Given the description of an element on the screen output the (x, y) to click on. 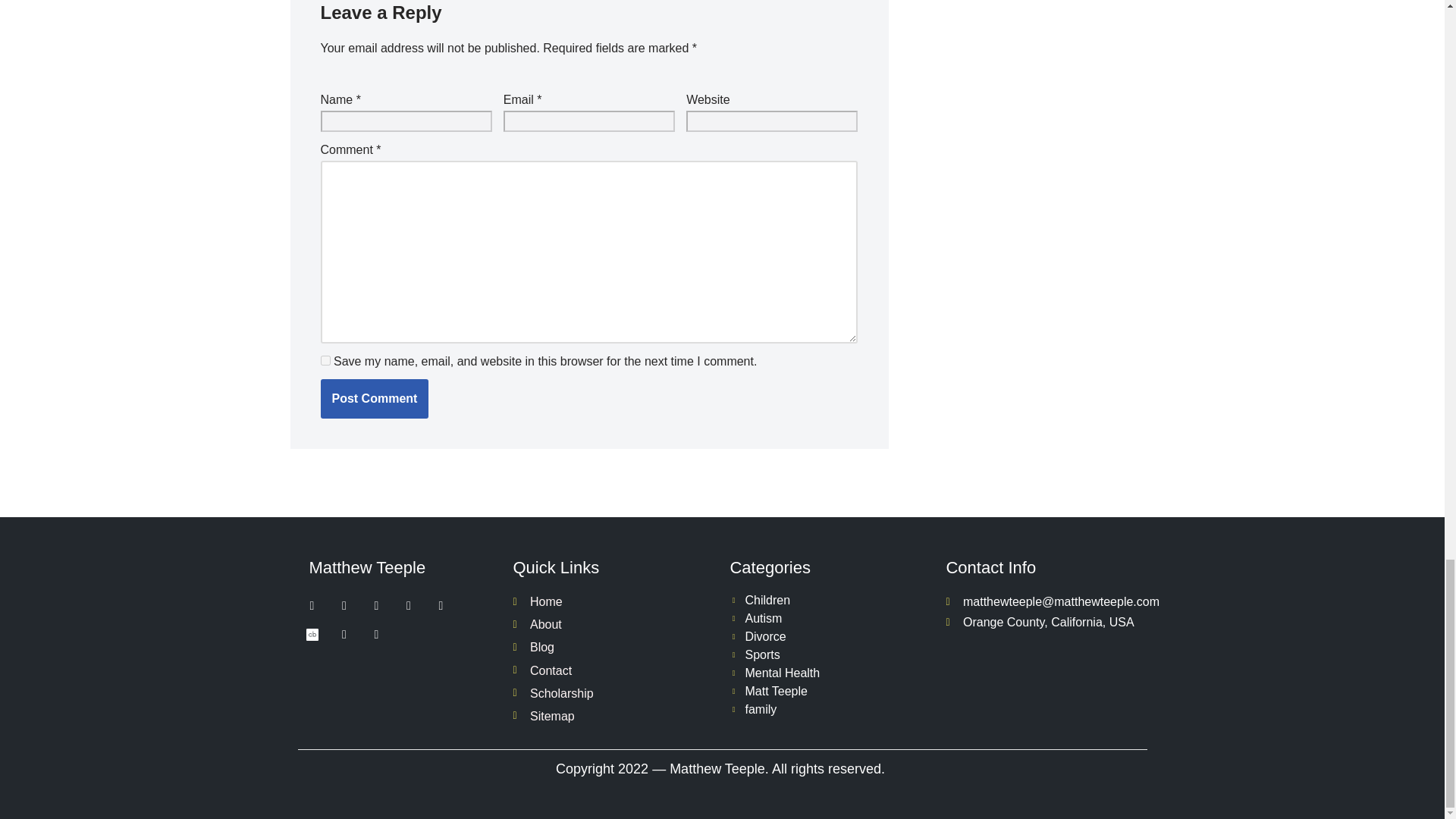
Post Comment (374, 398)
Post Comment (374, 398)
Home (613, 601)
yes (325, 360)
